Given the description of an element on the screen output the (x, y) to click on. 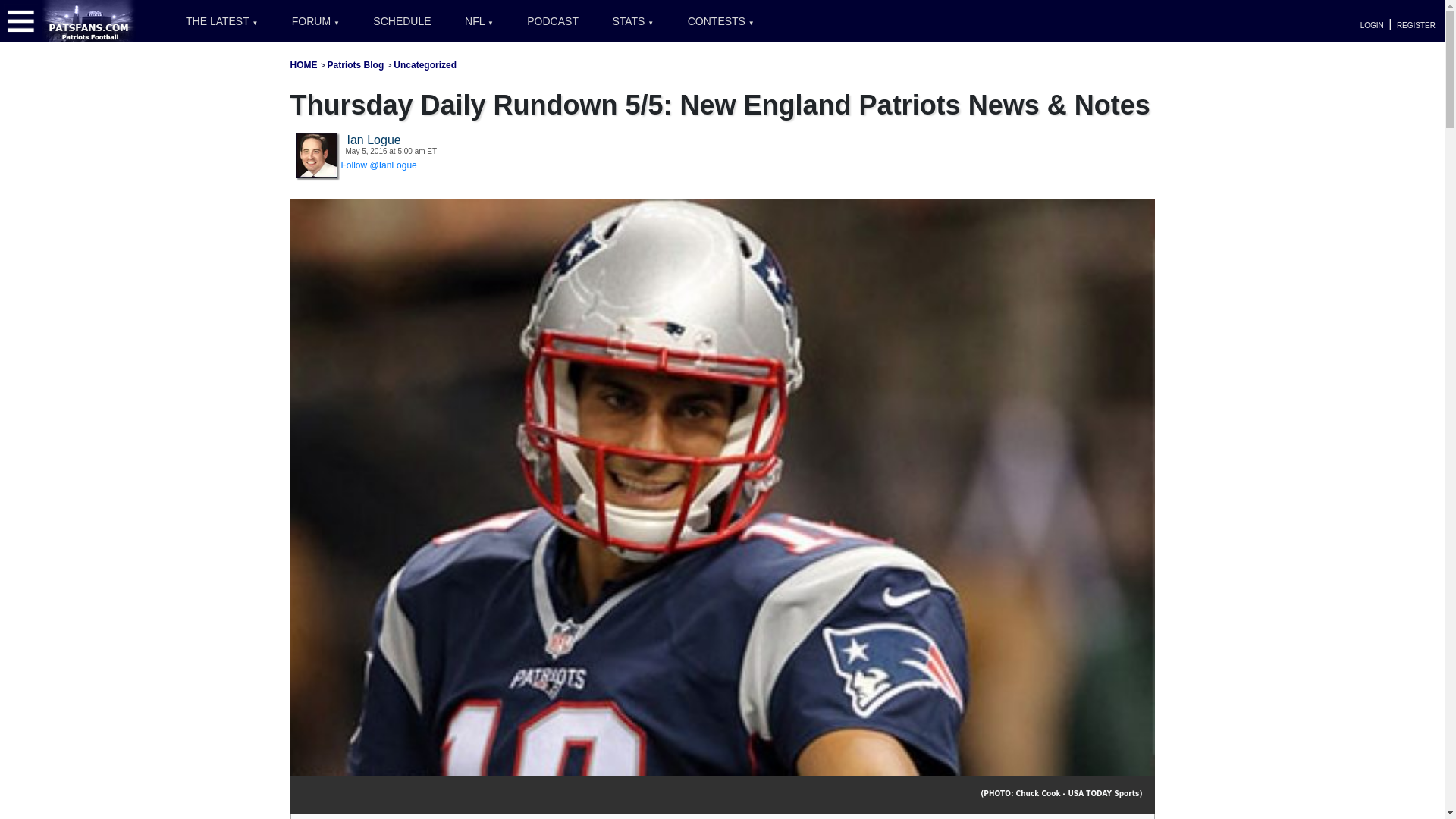
PODCAST (553, 21)
Ian Logue on PatsFans.com (316, 154)
Patriots Blog (355, 64)
SCHEDULE (401, 21)
New England Patriots at PatsFans.com (303, 64)
Uncategorized (425, 64)
PatsFans.com (89, 19)
